Given the description of an element on the screen output the (x, y) to click on. 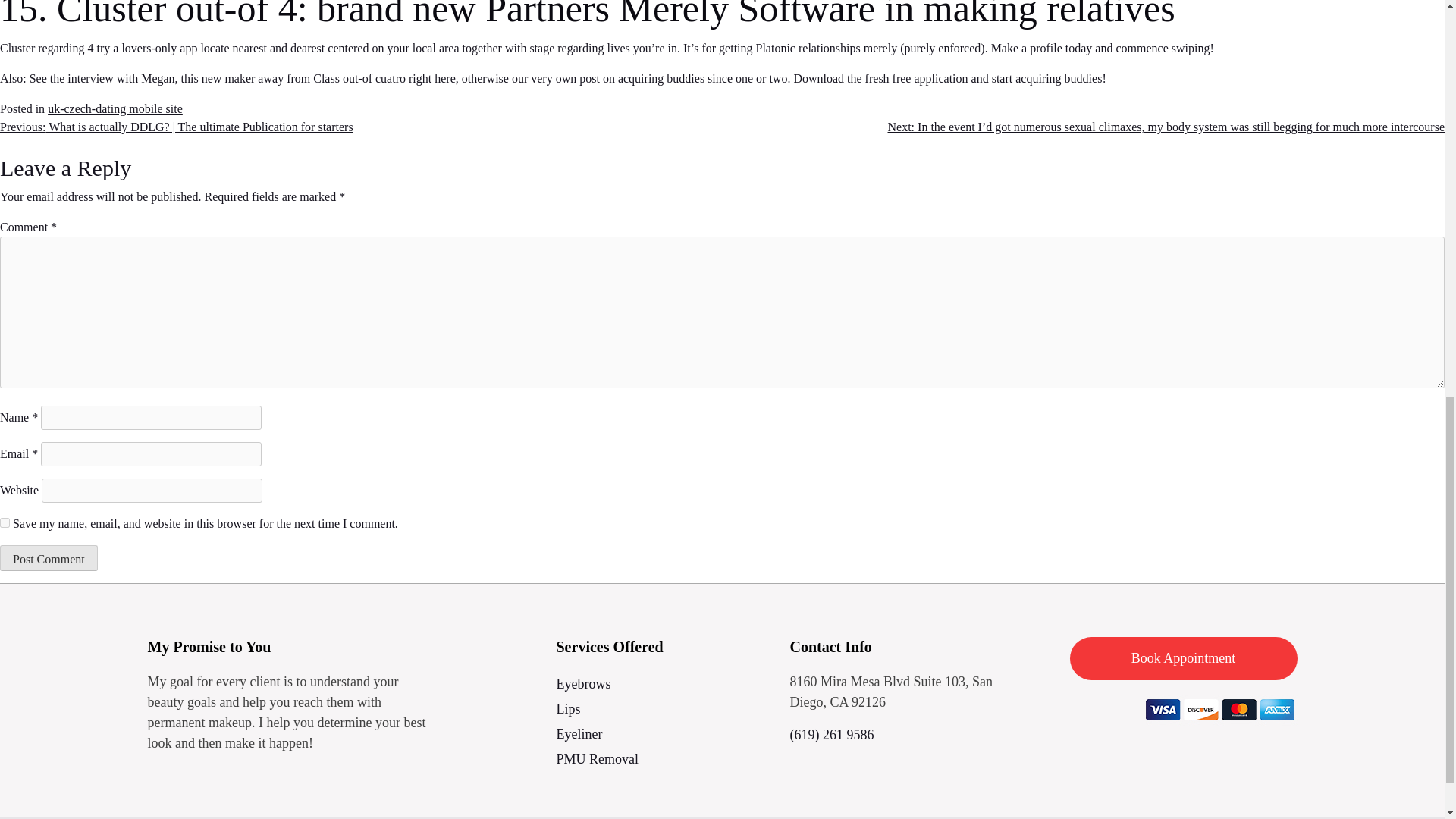
uk-czech-dating mobile site (115, 108)
Lips (663, 708)
Post Comment (48, 557)
Post Comment (48, 557)
Eyeliner (663, 733)
yes (5, 522)
Eyebrows (663, 683)
